Given the description of an element on the screen output the (x, y) to click on. 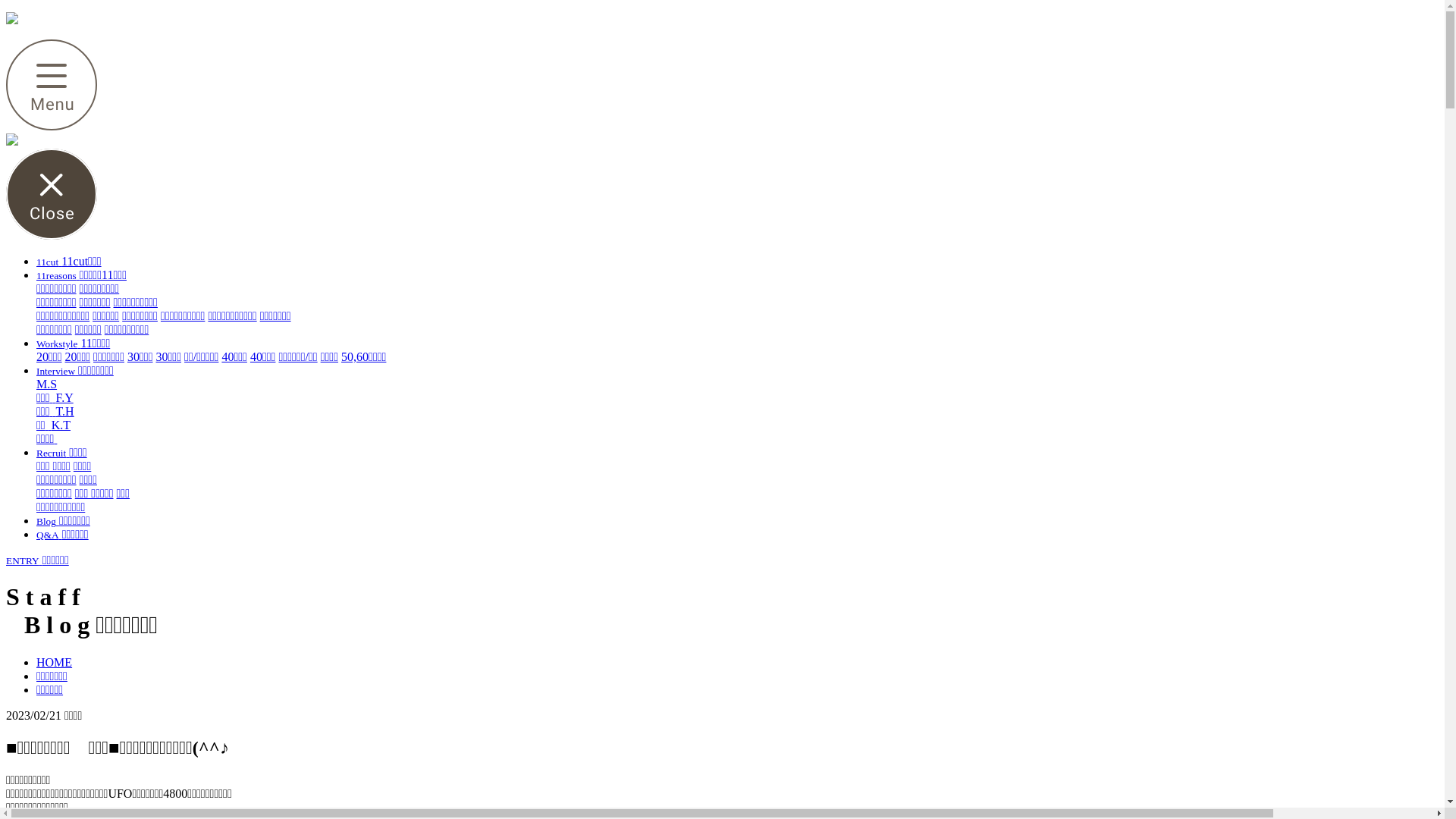
HOME Element type: text (54, 661)
